Given the description of an element on the screen output the (x, y) to click on. 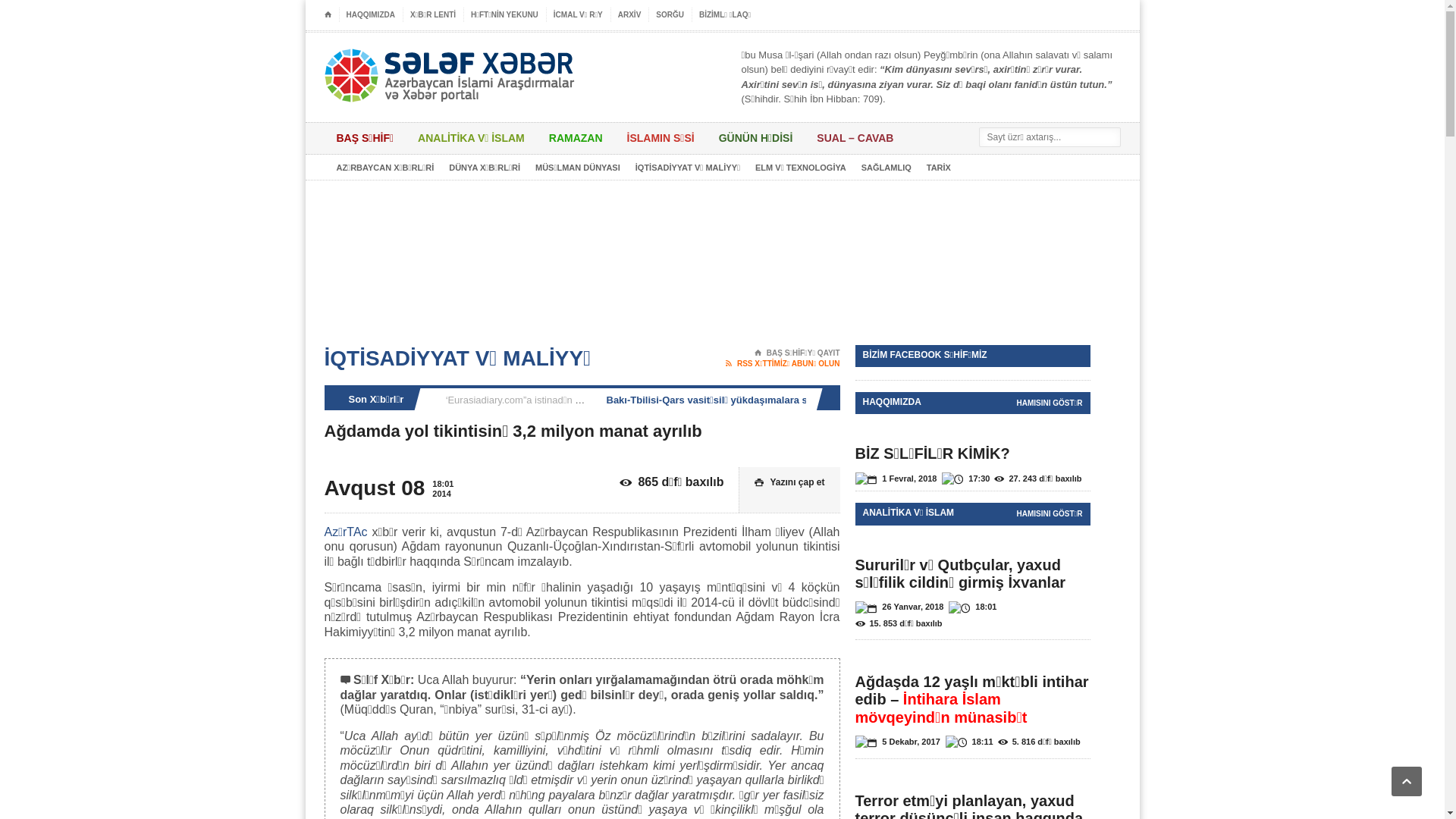
18:01 Element type: text (971, 607)
RAMAZAN Element type: text (575, 137)
5 Dekabr, 2017 Element type: text (897, 742)
17:30 Element type: text (965, 479)
18:11 Element type: text (968, 742)
ARXIV Element type: text (630, 14)
26 Yanvar, 2018 Element type: text (899, 607)
1 Fevral, 2018 Element type: text (896, 479)
HAQQIMIZDA Element type: text (370, 14)
